Given the description of an element on the screen output the (x, y) to click on. 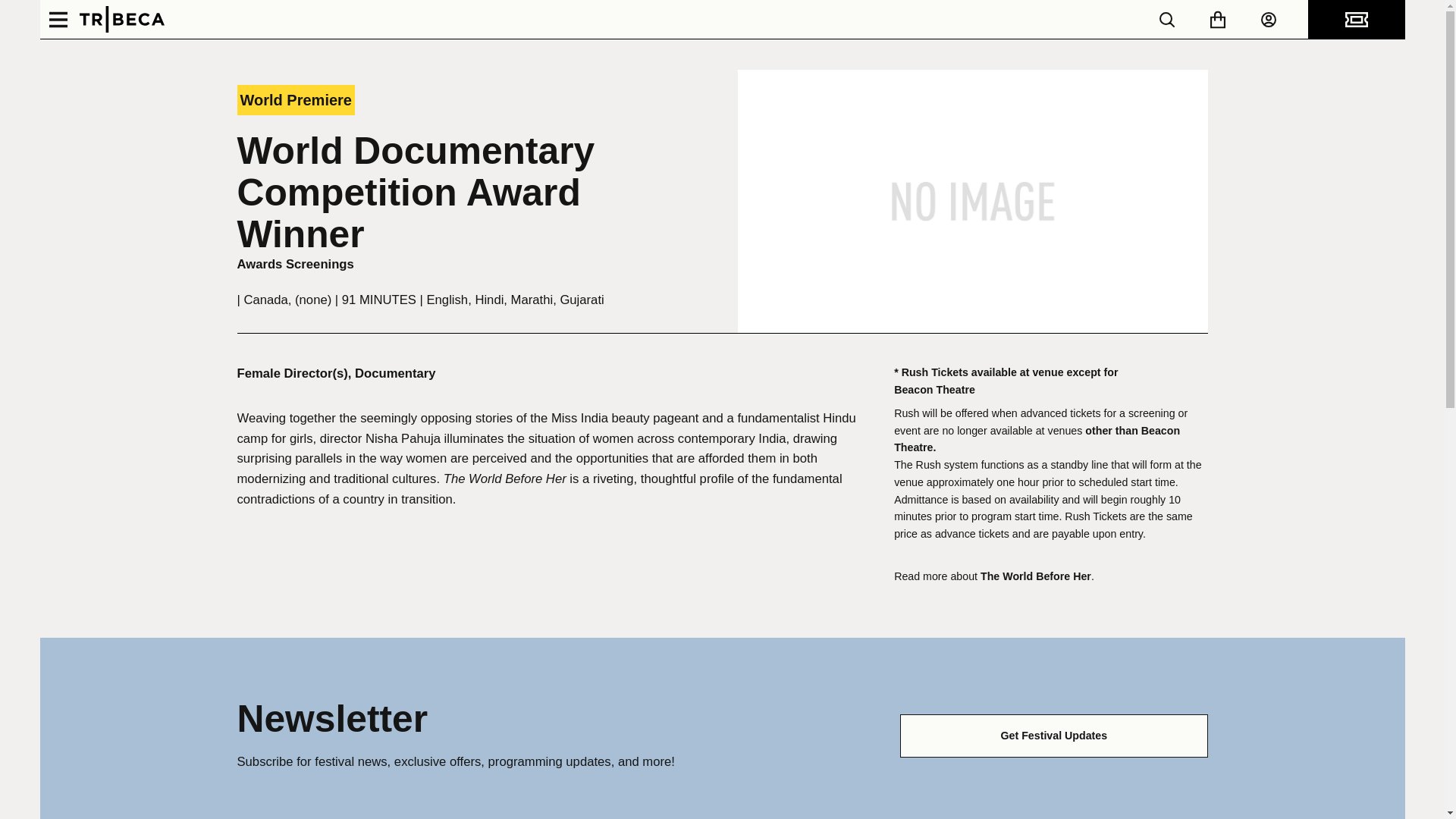
Get Festival Updates (1053, 735)
The World Before Her (1034, 576)
